Given the description of an element on the screen output the (x, y) to click on. 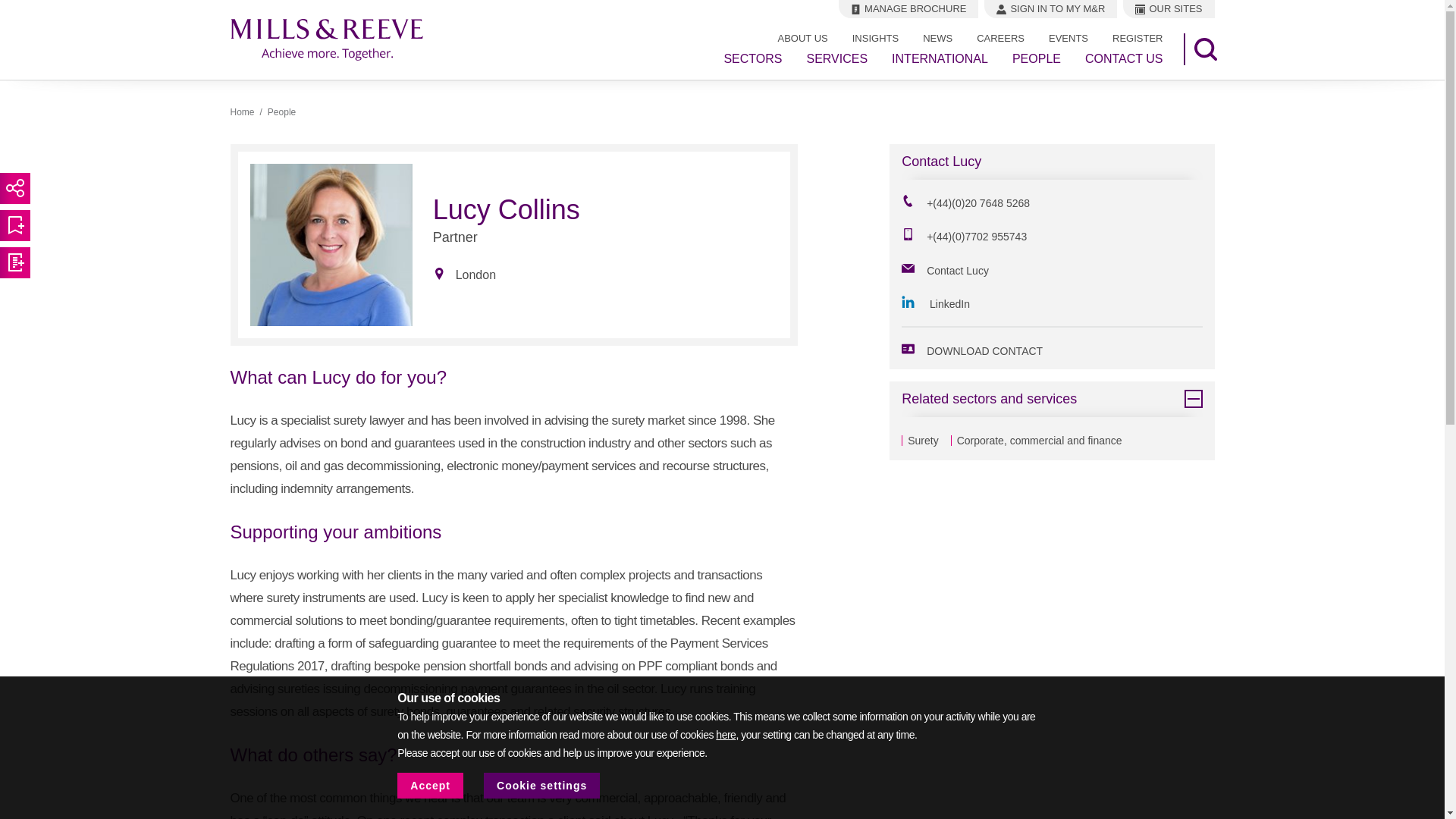
OUR SITES (1168, 9)
PEOPLE (1036, 58)
EVENTS (1068, 37)
People (281, 112)
NEWS (937, 37)
Home (242, 112)
Manage Brochure (908, 9)
ABOUT US (802, 37)
MANAGE BROCHURE (908, 9)
Call Lucy (963, 234)
Contact Lucy (944, 268)
CONTACT US (1123, 58)
INTERNATIONAL (939, 58)
CAREERS (999, 37)
INSIGHTS (875, 37)
